Given the description of an element on the screen output the (x, y) to click on. 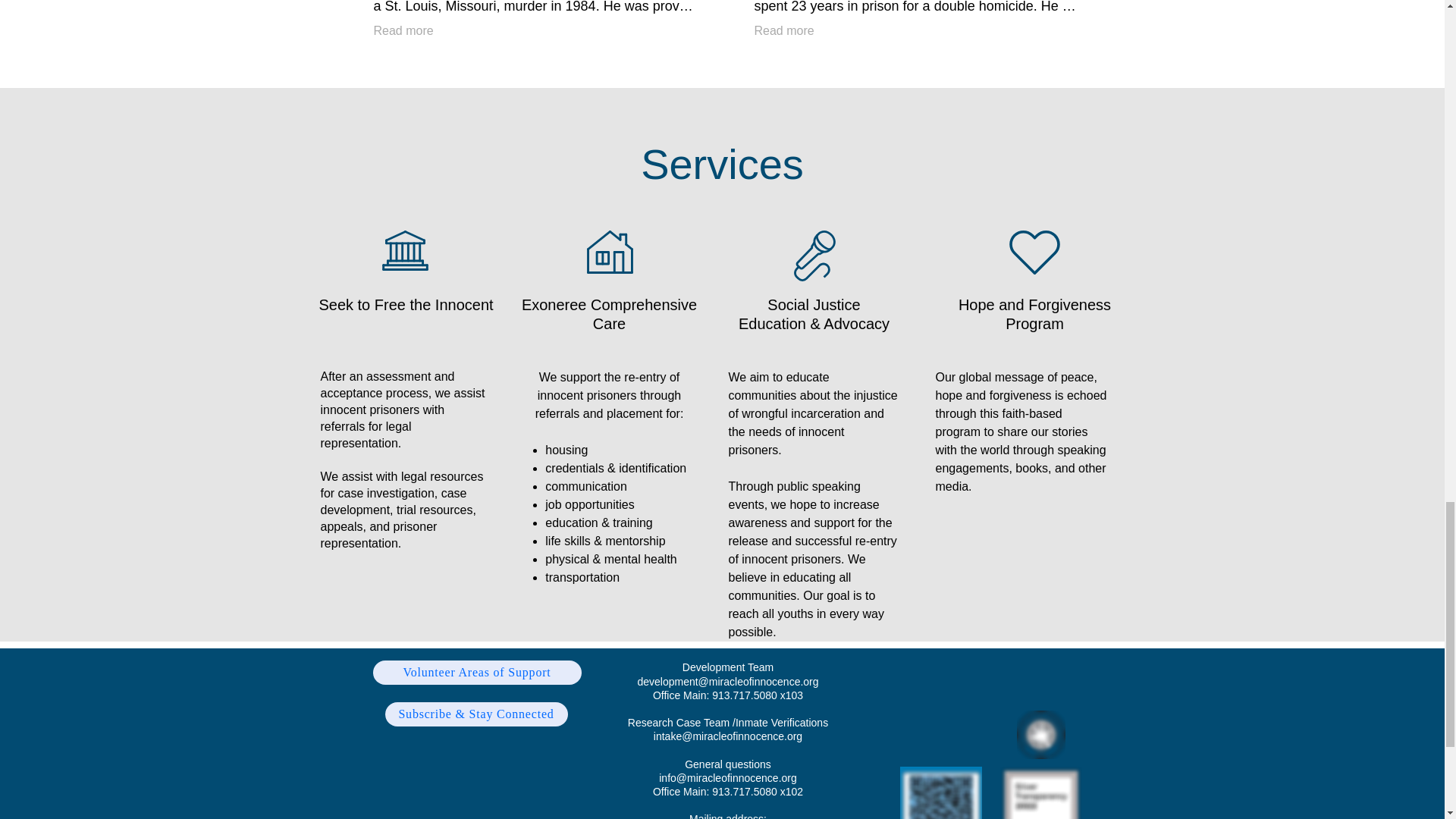
Read more (402, 30)
Read more (783, 30)
Volunteer Areas of Support (476, 672)
